Given the description of an element on the screen output the (x, y) to click on. 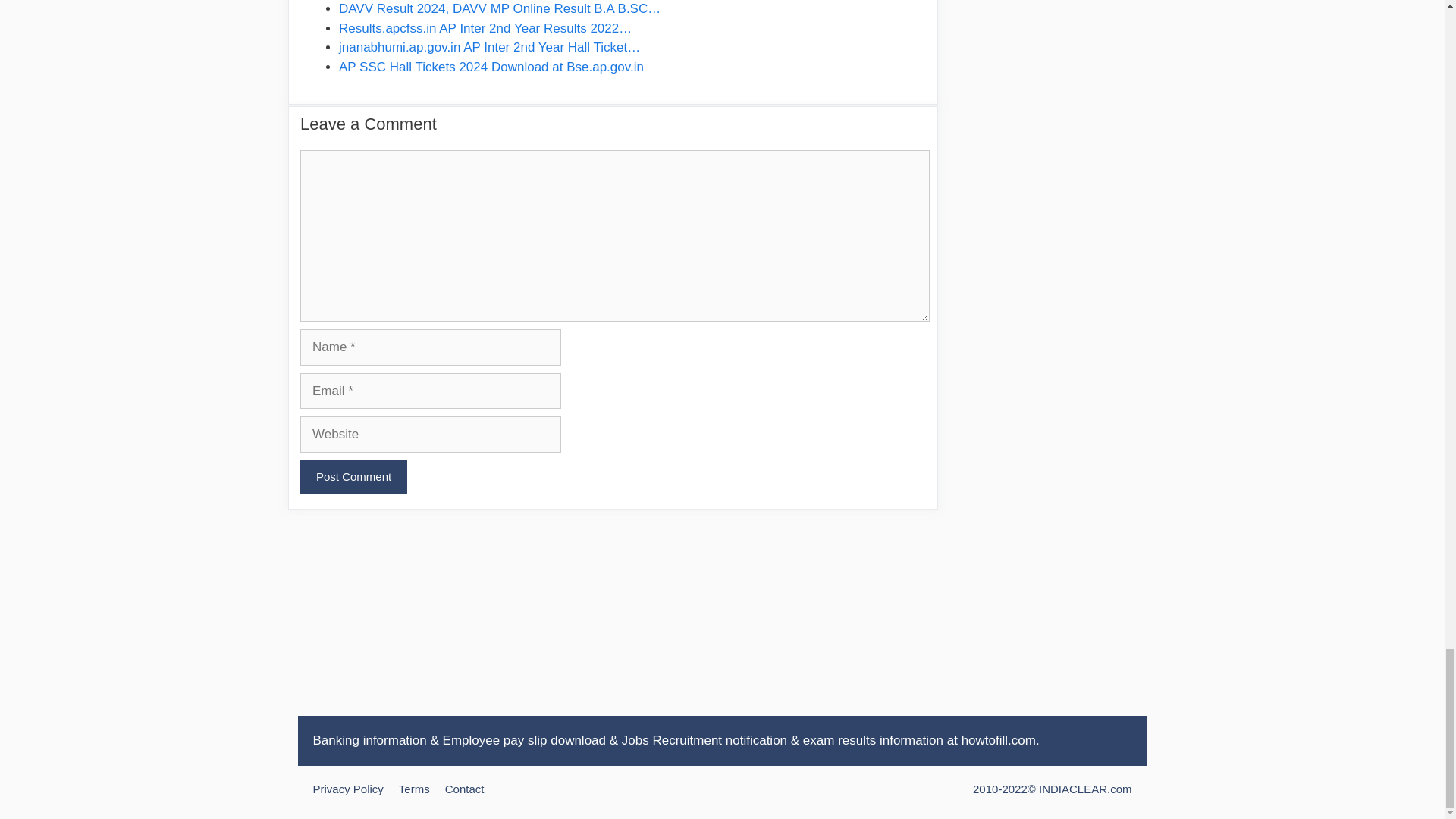
Post Comment (353, 477)
Privacy Policy (347, 788)
howtofill.com (997, 740)
Post Comment (353, 477)
AP SSC Hall Tickets 2024 Download at Bse.ap.gov.in (491, 66)
